Given the description of an element on the screen output the (x, y) to click on. 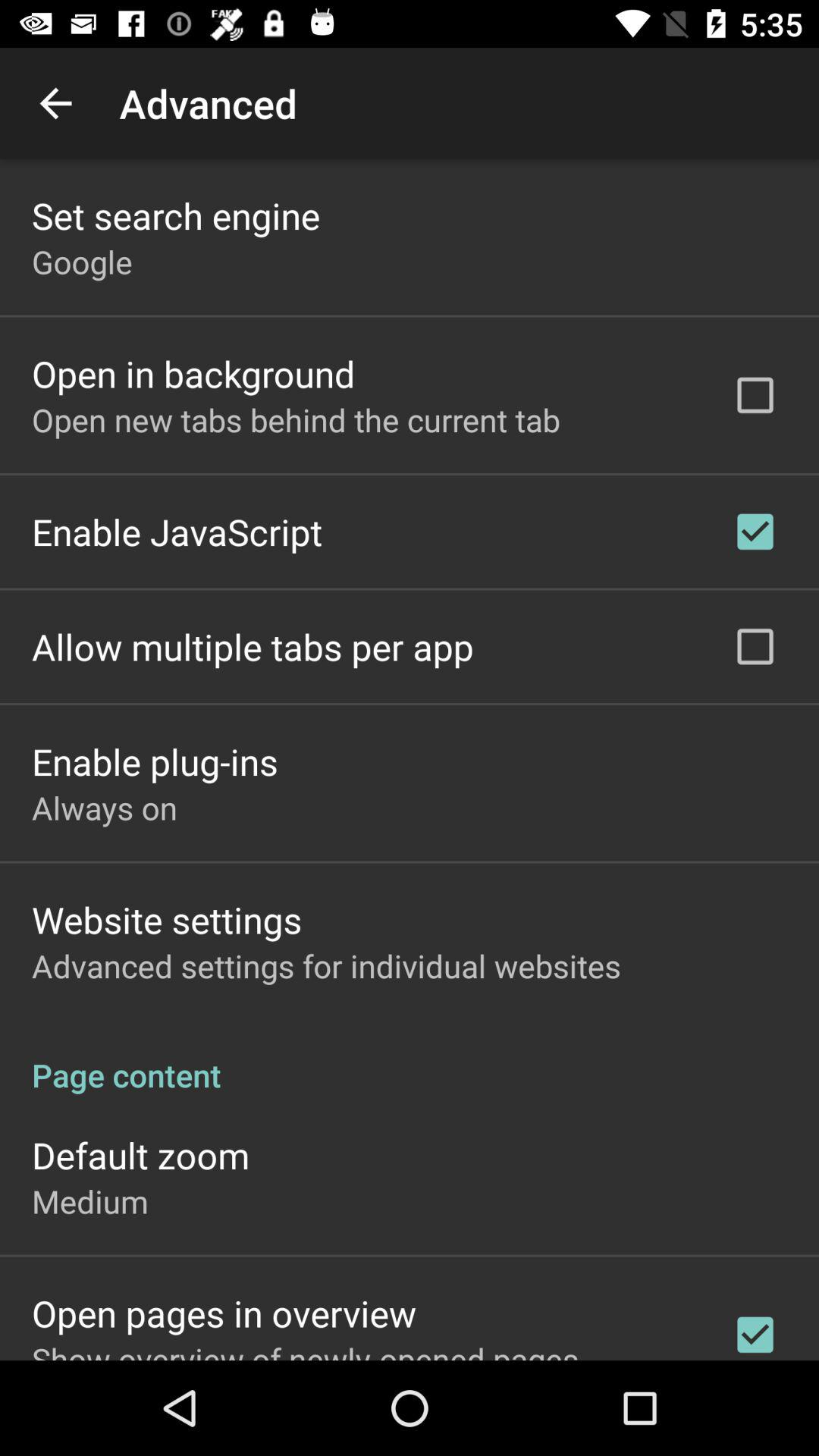
click the item above the always on app (154, 761)
